Given the description of an element on the screen output the (x, y) to click on. 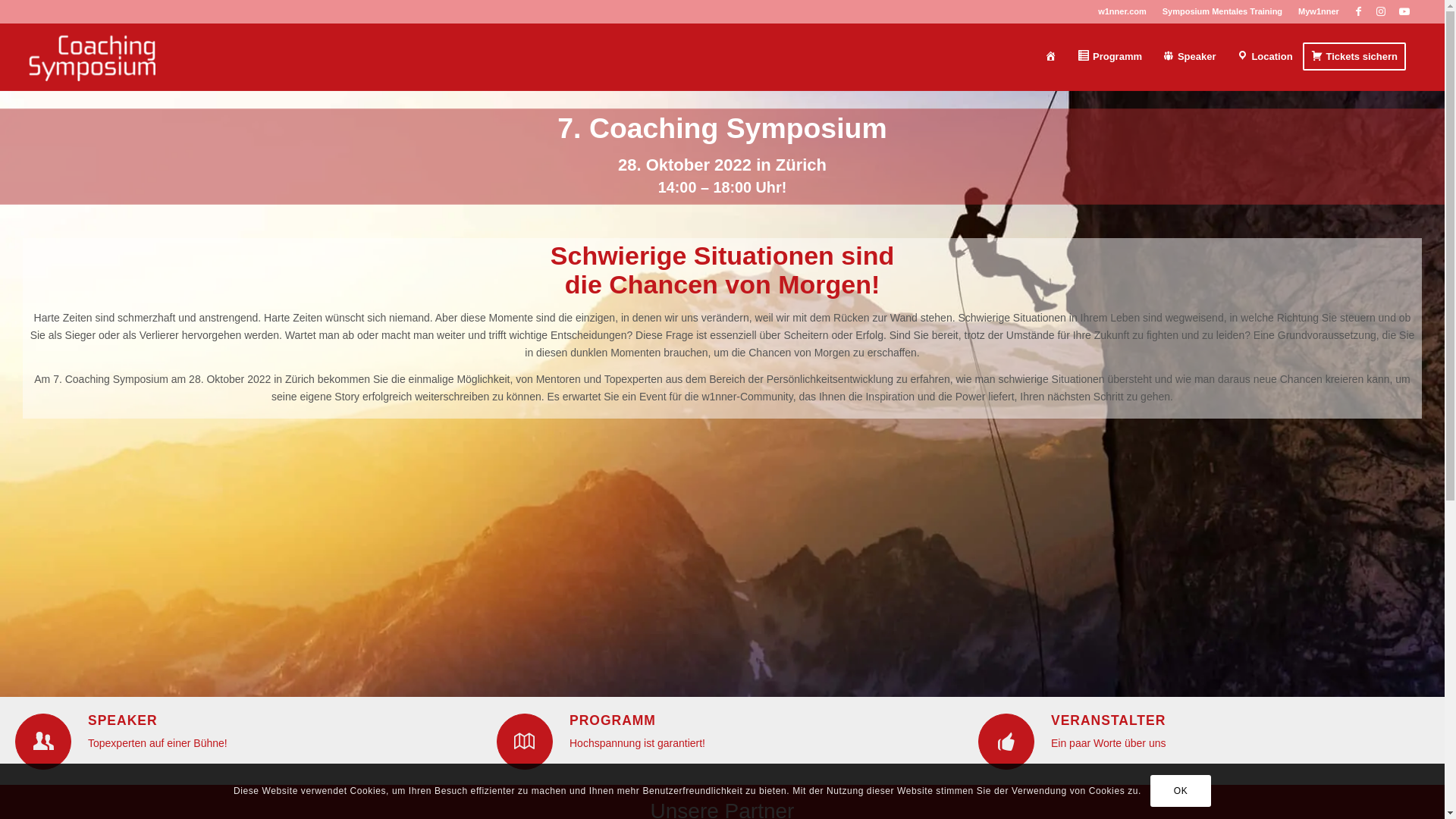
Tickets sichern Element type: text (1358, 56)
Programm Element type: hover (524, 741)
Symposium Element type: text (1050, 56)
Facebook Element type: hover (1358, 11)
PROGRAMM Element type: text (612, 720)
Myw1nner Element type: text (1318, 11)
Instagram Element type: hover (1381, 11)
Veranstalter Element type: hover (1006, 741)
Programm Element type: text (1108, 56)
SPEAKER Element type: text (122, 720)
Location Element type: text (1264, 56)
Youtube Element type: hover (1404, 11)
Speaker Element type: text (1188, 56)
OK Element type: text (1180, 790)
w1nner.com Element type: text (1122, 11)
Speaker Element type: hover (43, 741)
VERANSTALTER Element type: text (1108, 720)
Symposium Mentales Training Element type: text (1222, 11)
